Given the description of an element on the screen output the (x, y) to click on. 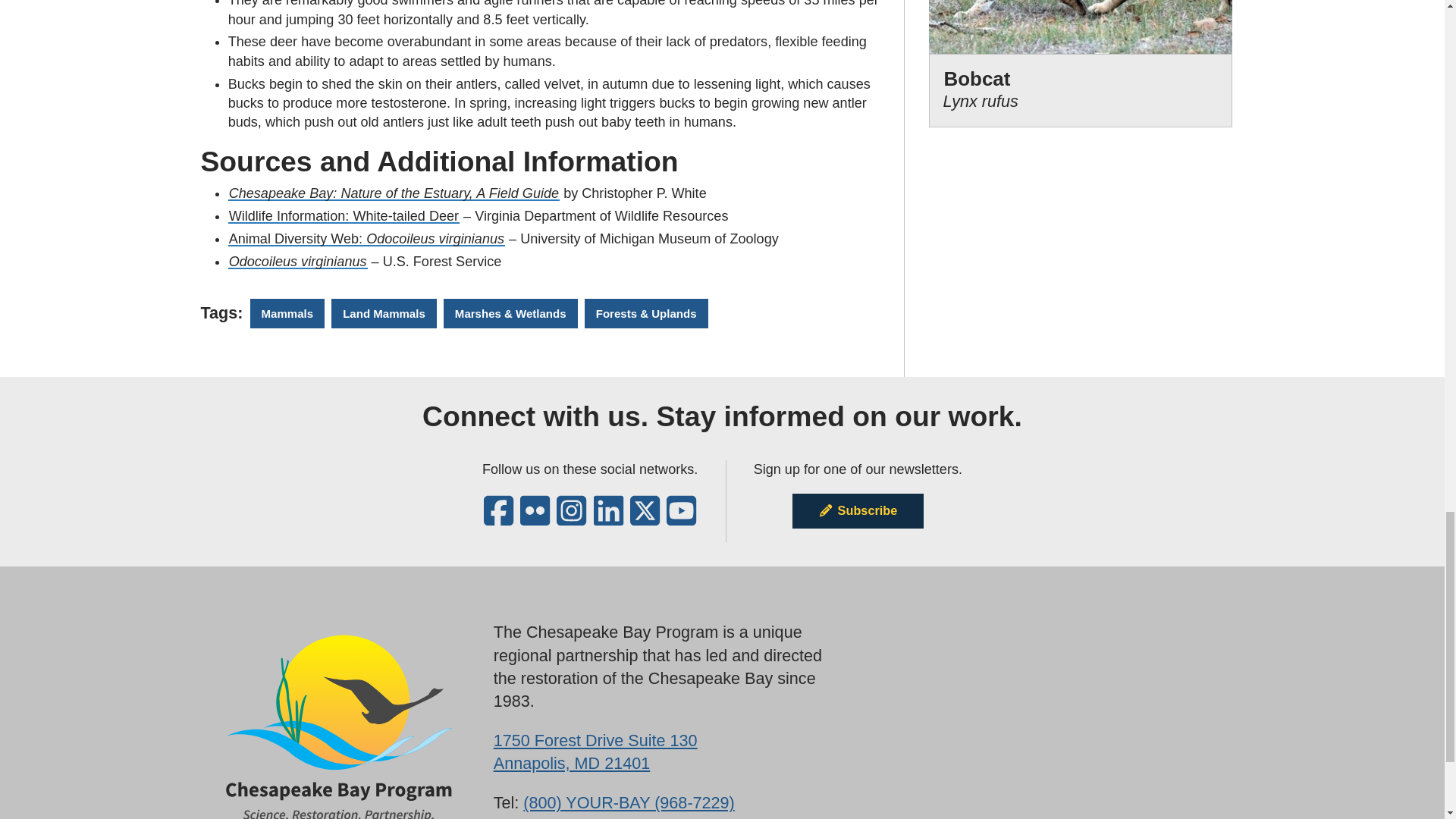
Follow us on X, formerly known as Twitter (981, 89)
Wildlife Information: White-tailed Deer (644, 518)
Subscribe (344, 215)
Follow us on LinkedIn (595, 752)
Animal Diversity Web: Odocoileus virginianus (857, 510)
Mammals (608, 518)
Chesapeake Bay: Nature of the Estuary, A Field Guide (366, 238)
Odocoileus virginianus (287, 313)
